Given the description of an element on the screen output the (x, y) to click on. 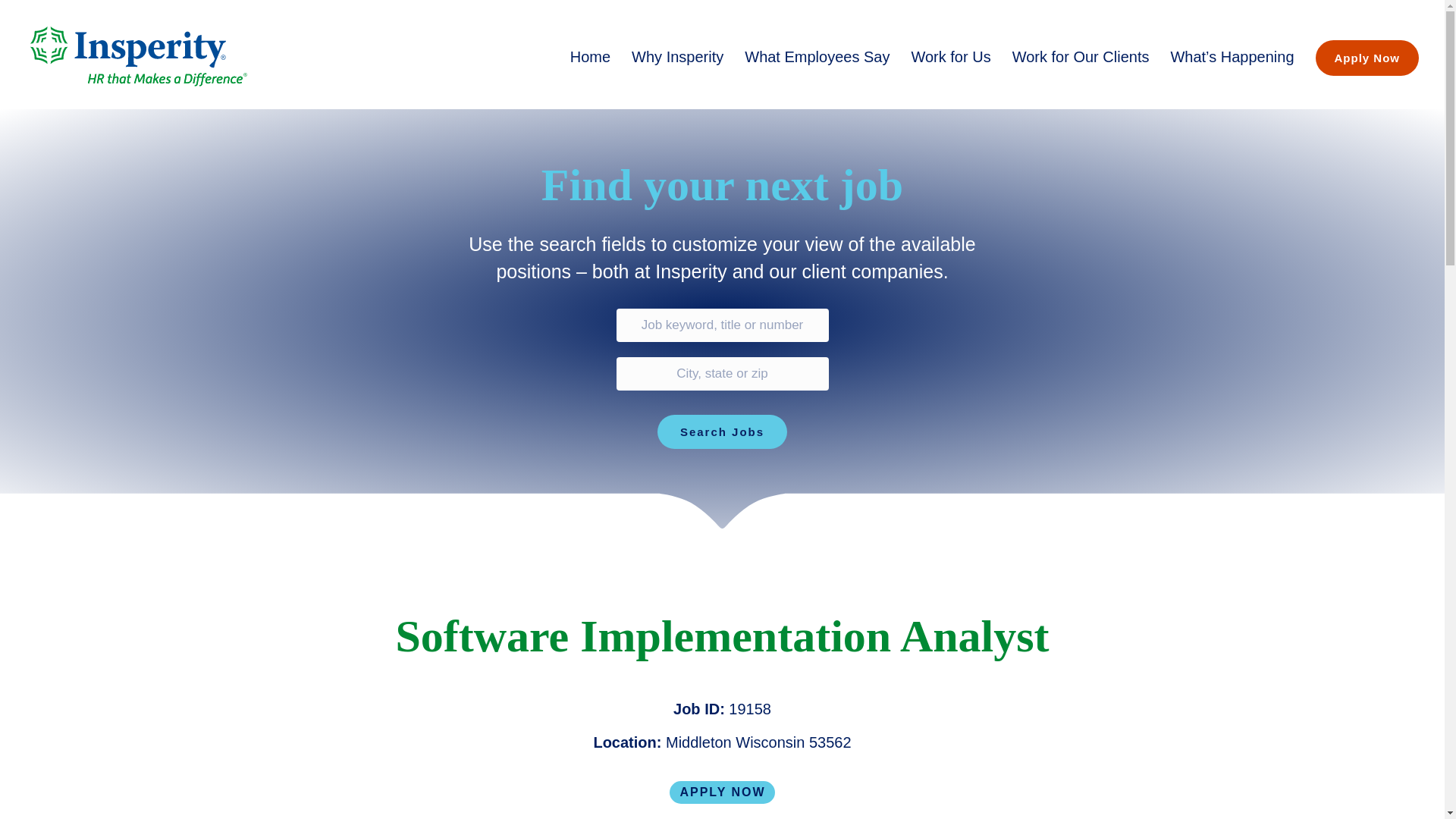
Insperity (138, 56)
Why Insperity (677, 55)
Apply Now (1366, 55)
Work for Us (950, 55)
Home (590, 55)
Search Jobs (722, 431)
Type and press Enter to search. (721, 377)
What Employees Say (816, 55)
APPLY NOW (721, 792)
Work for Our Clients (1080, 55)
